Given the description of an element on the screen output the (x, y) to click on. 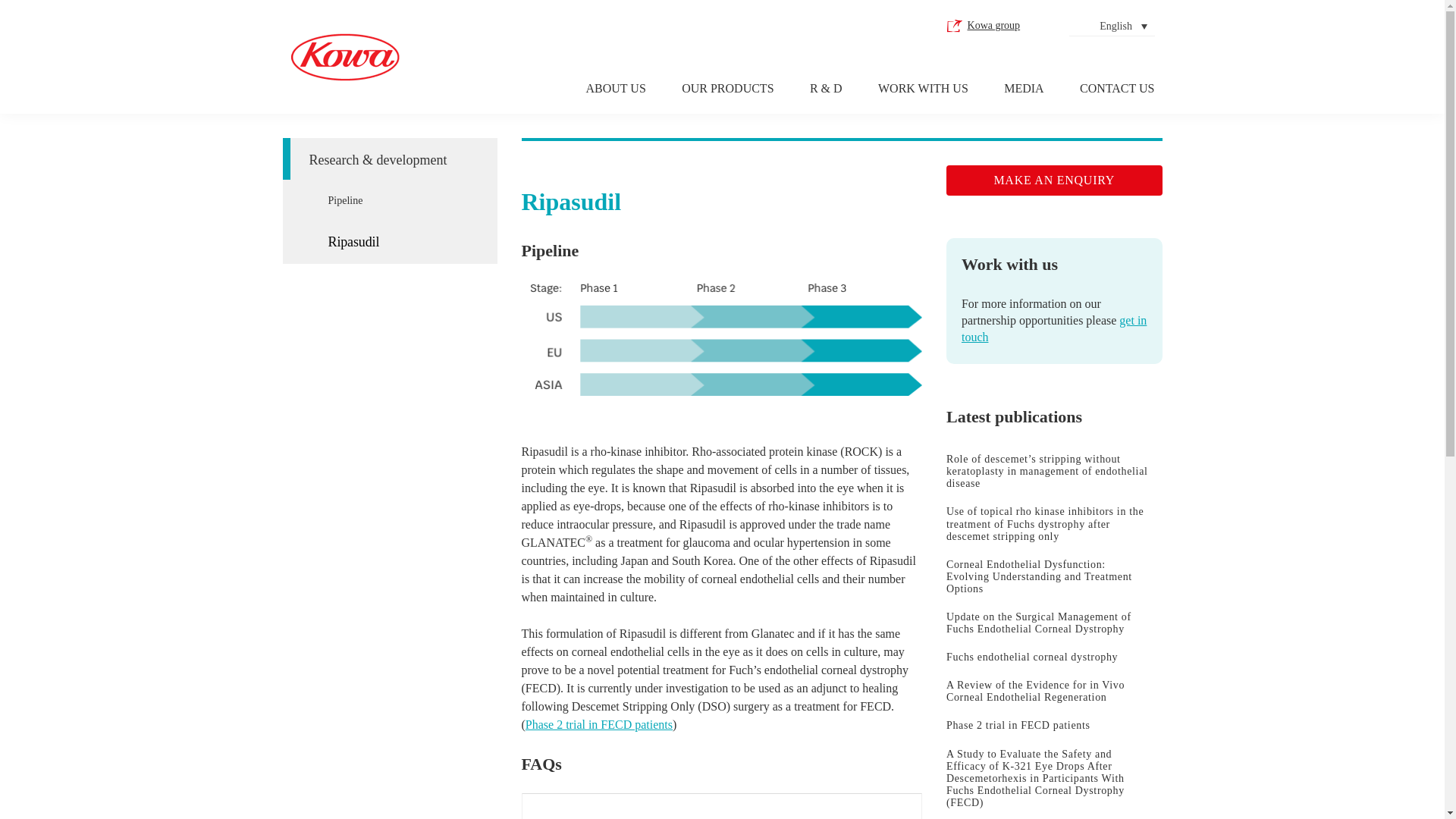
get in touch (1053, 328)
MEDIA (1023, 88)
MAKE AN ENQUIRY (1053, 180)
Phase 2 trial in FECD patients (598, 724)
English (1123, 26)
Fuchs endothelial corneal dystrophy (1053, 657)
Ripasudil (402, 241)
